Given the description of an element on the screen output the (x, y) to click on. 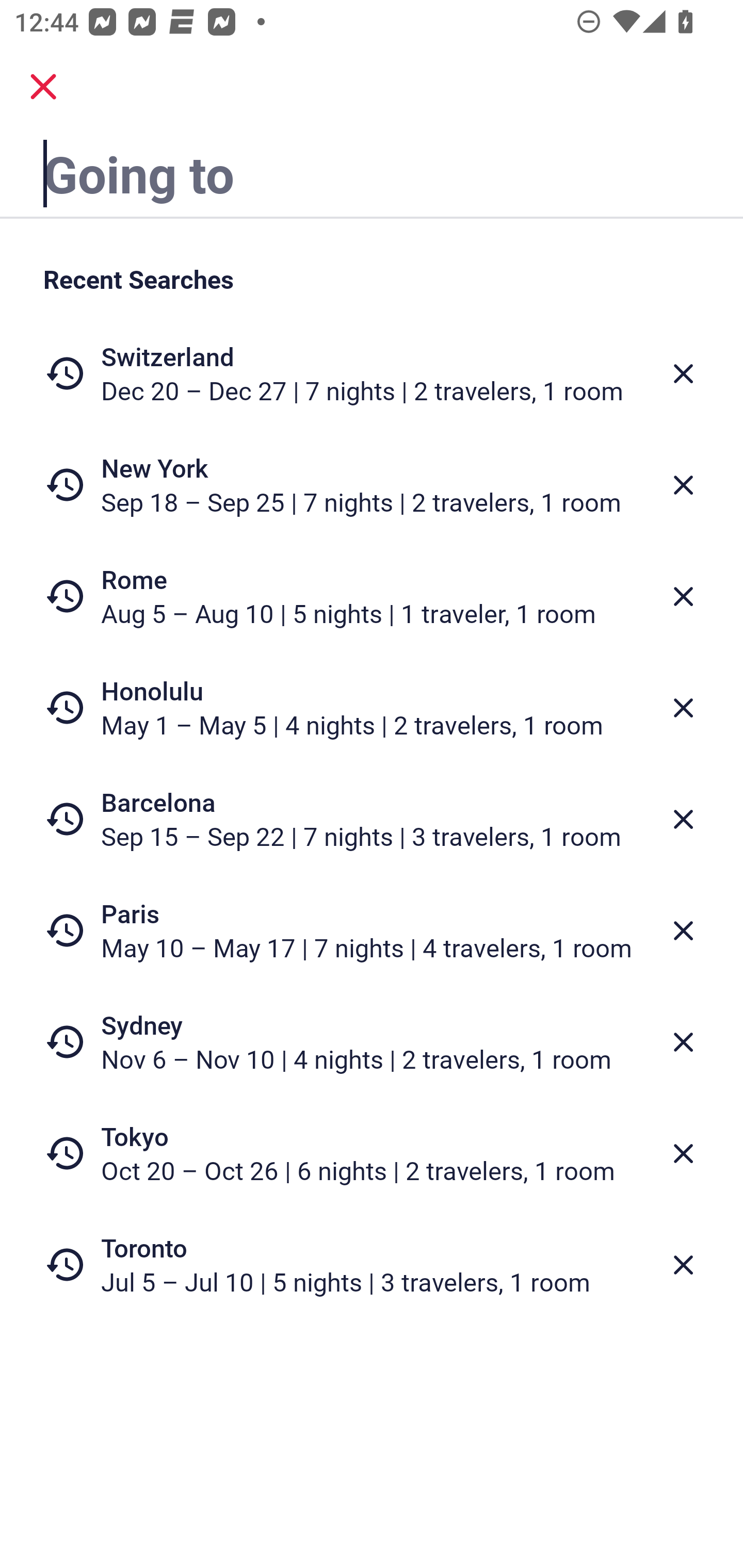
close. (43, 86)
Delete from recent searches (683, 373)
Delete from recent searches (683, 485)
Delete from recent searches (683, 596)
Delete from recent searches (683, 707)
Delete from recent searches (683, 819)
Delete from recent searches (683, 930)
Delete from recent searches (683, 1041)
Delete from recent searches (683, 1153)
Delete from recent searches (683, 1265)
